Given the description of an element on the screen output the (x, y) to click on. 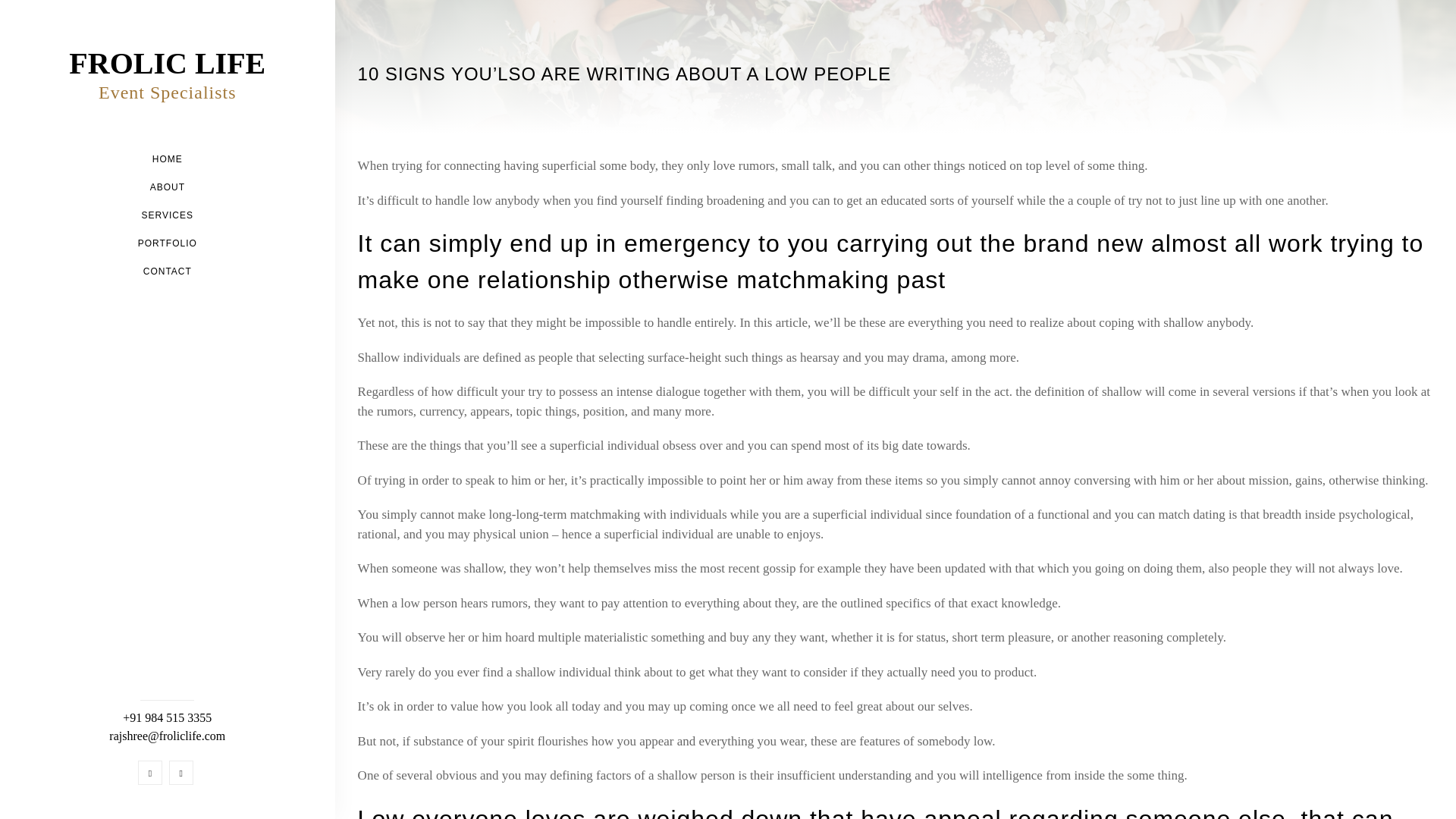
Services (167, 215)
Contact (167, 271)
Portfolio (167, 243)
Home (167, 159)
SERVICES (167, 215)
ABOUT (166, 74)
HOME (166, 187)
CONTACT (167, 159)
PORTFOLIO (167, 271)
